Given the description of an element on the screen output the (x, y) to click on. 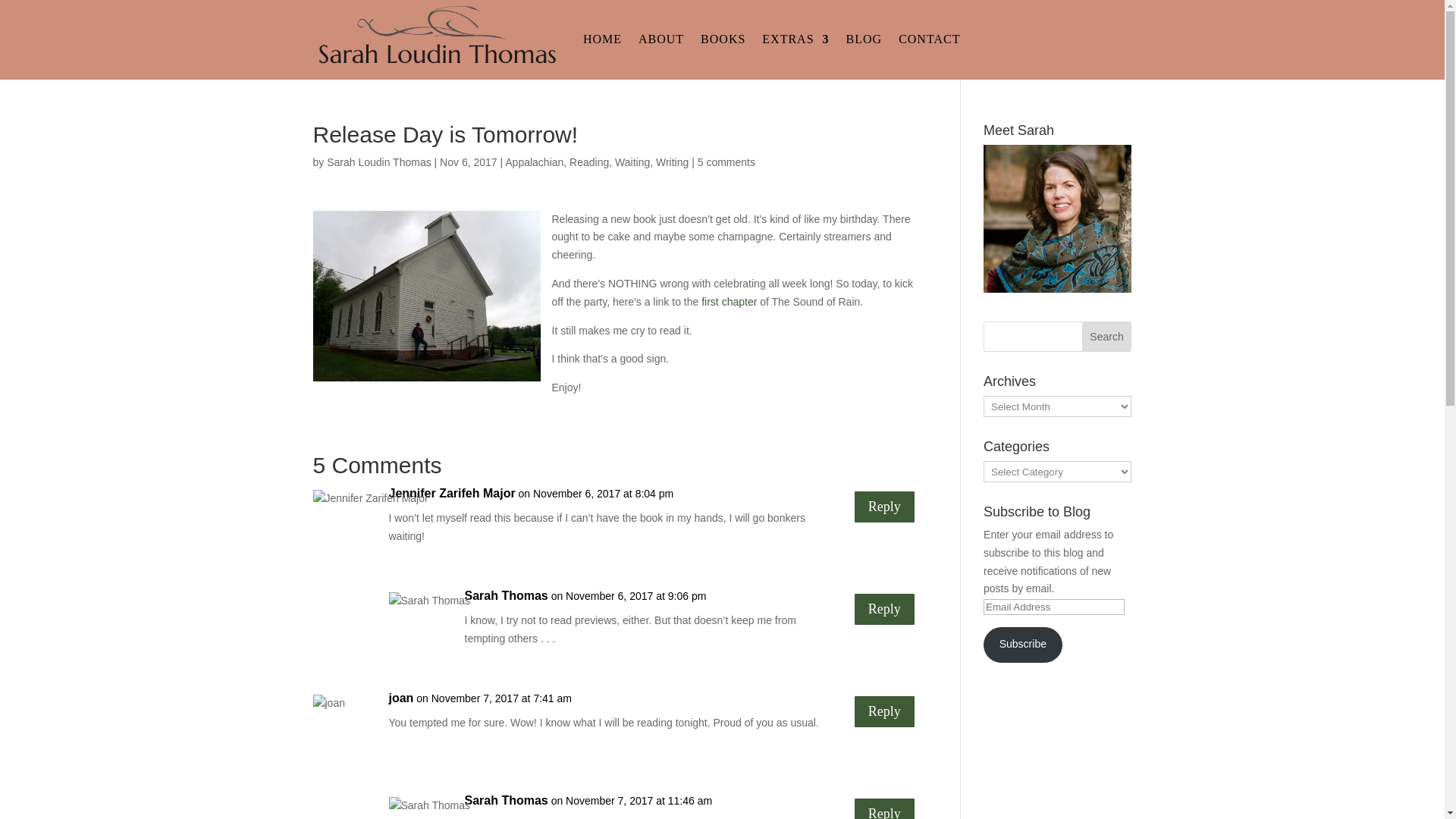
Appalachian (534, 162)
Reply (884, 807)
Sarah Thomas (505, 800)
Subscribe (1023, 644)
Search (1106, 336)
Jennifer Zarifeh Major (451, 493)
Waiting (631, 162)
5 comments (726, 162)
Writing (672, 162)
Reply (884, 711)
